Given the description of an element on the screen output the (x, y) to click on. 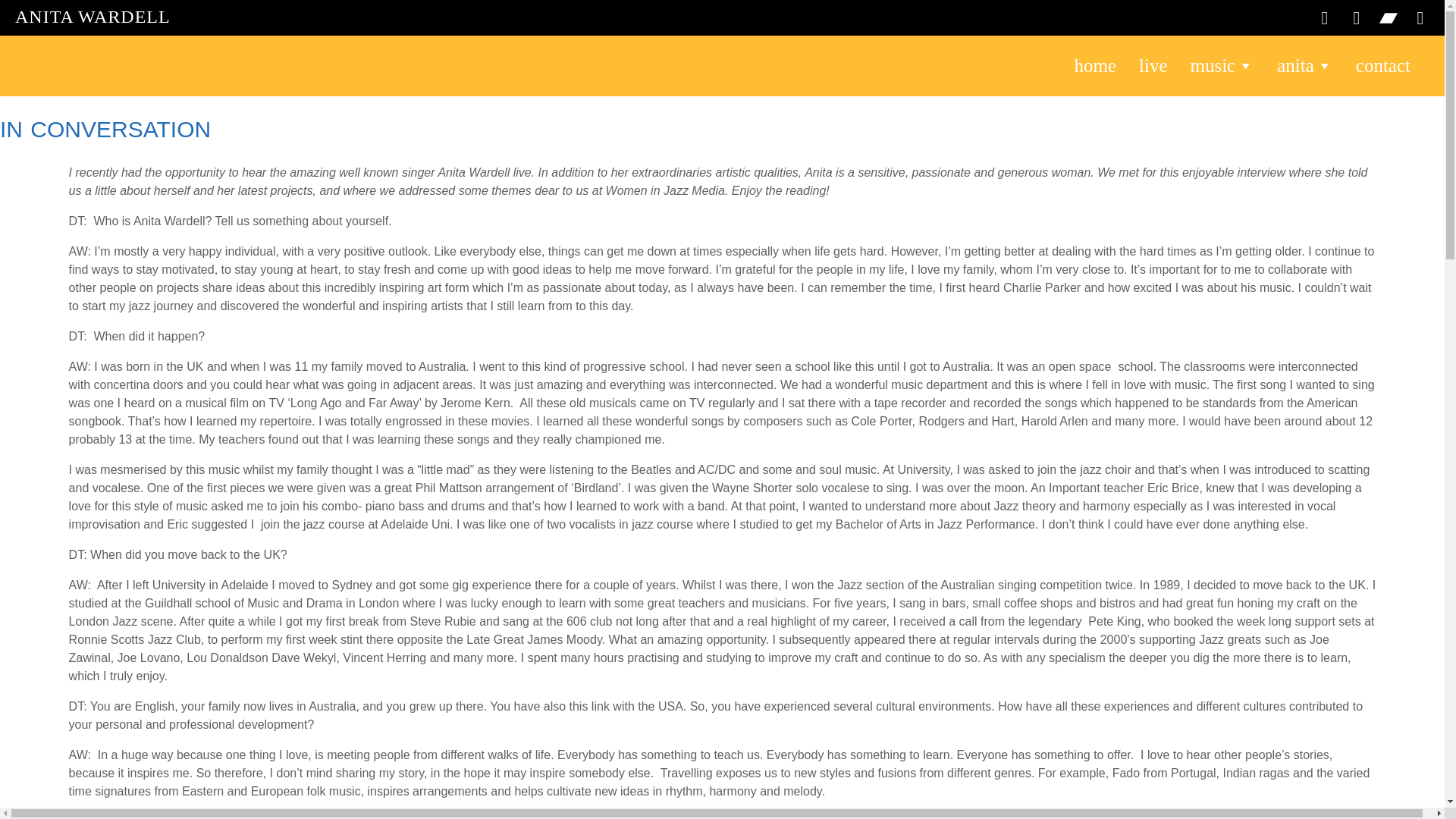
ANITA WARDELL (92, 16)
home (1094, 66)
contact (1382, 66)
music (1221, 66)
anita (1304, 66)
